Given the description of an element on the screen output the (x, y) to click on. 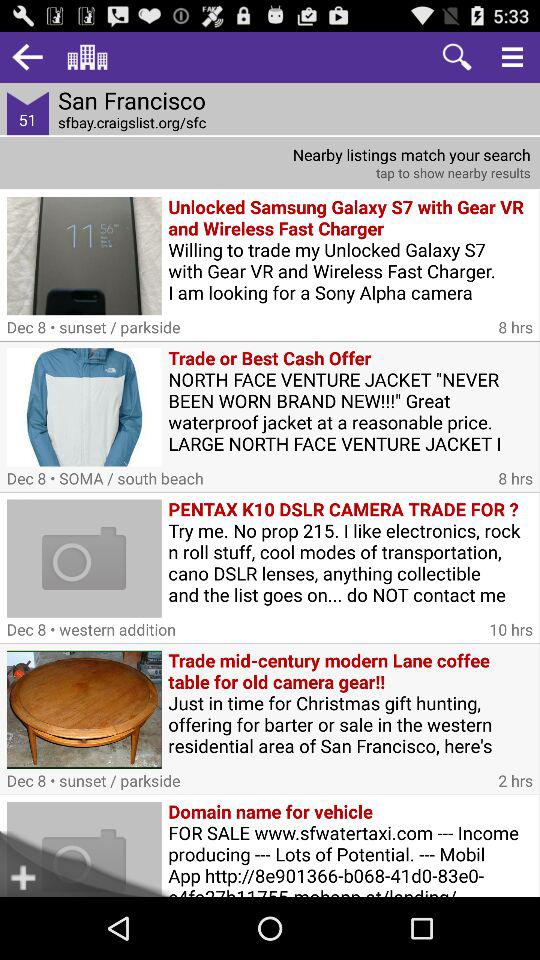
go back (27, 56)
